Given the description of an element on the screen output the (x, y) to click on. 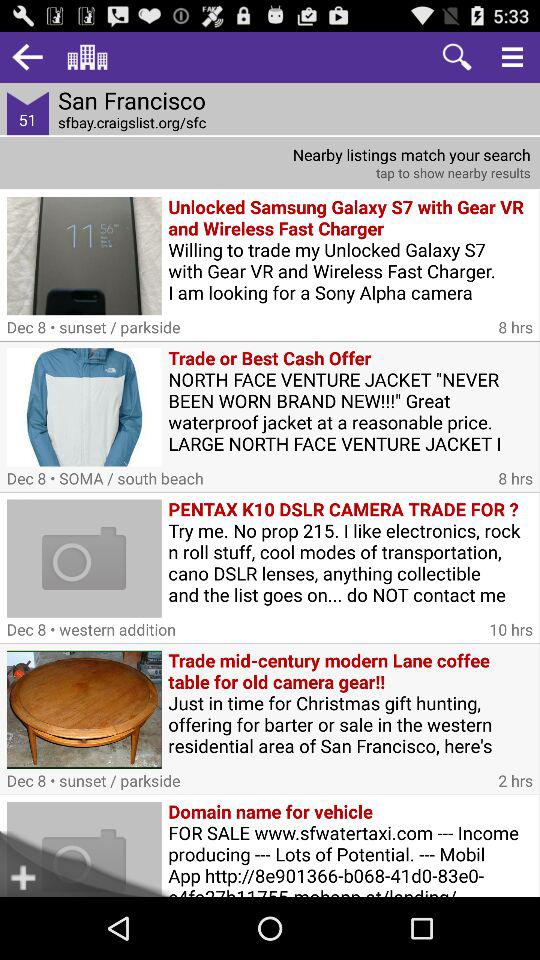
go back (27, 56)
